Given the description of an element on the screen output the (x, y) to click on. 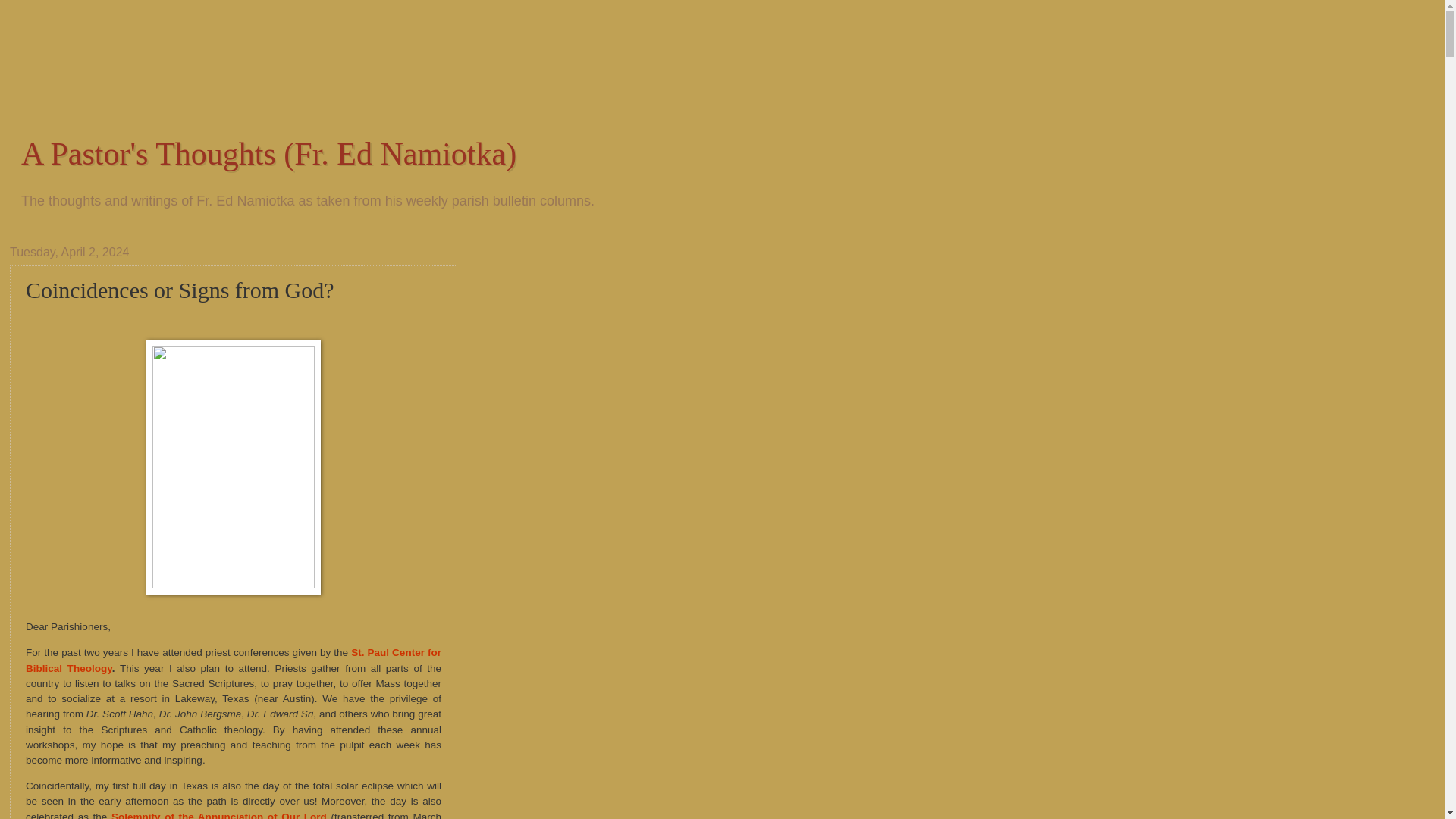
St. Paul Center for Biblical Theology (233, 660)
Solemnity of the Annunciation of Our Lord (219, 815)
